Given the description of an element on the screen output the (x, y) to click on. 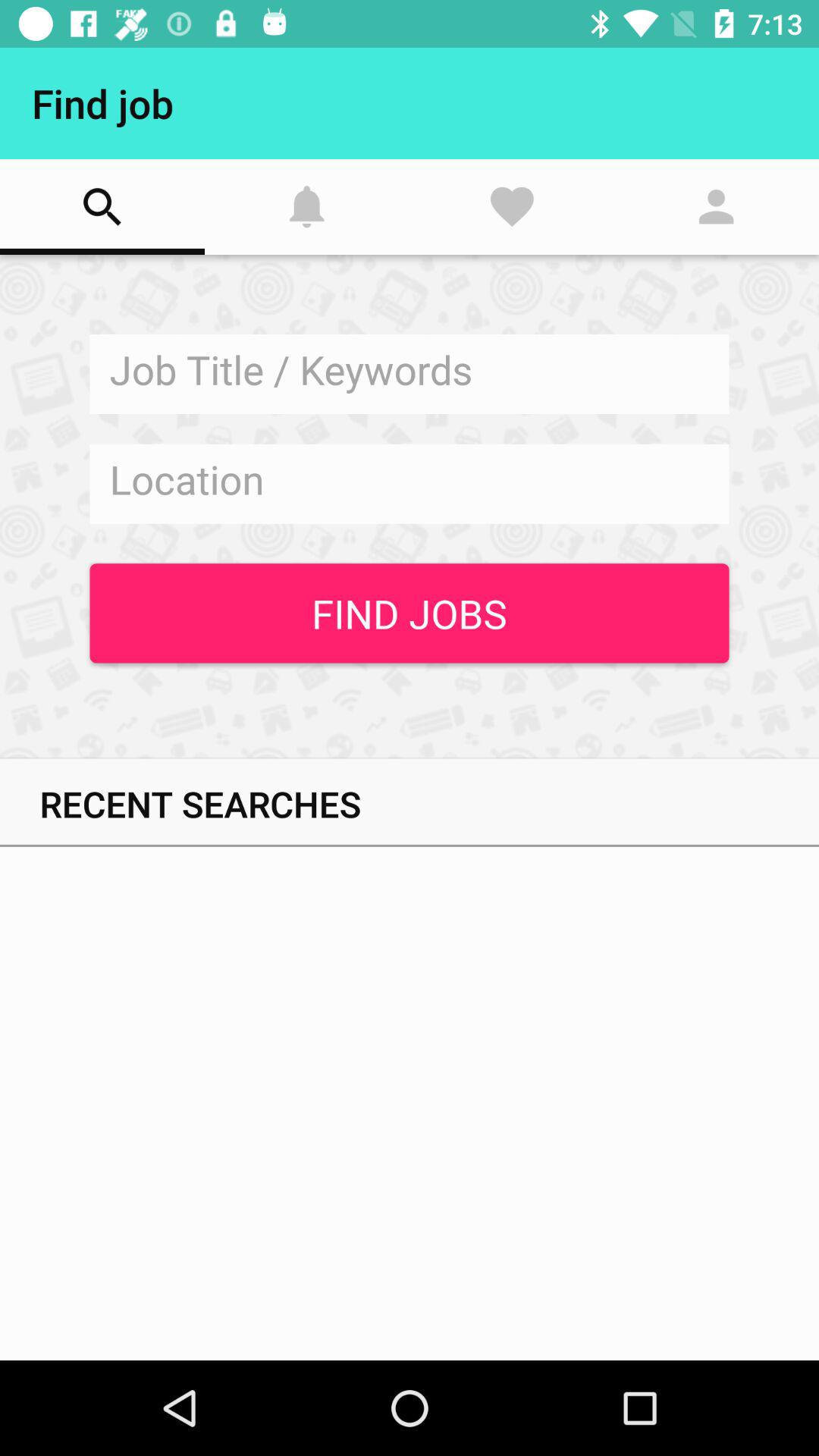
job tittle keywords (409, 374)
